Given the description of an element on the screen output the (x, y) to click on. 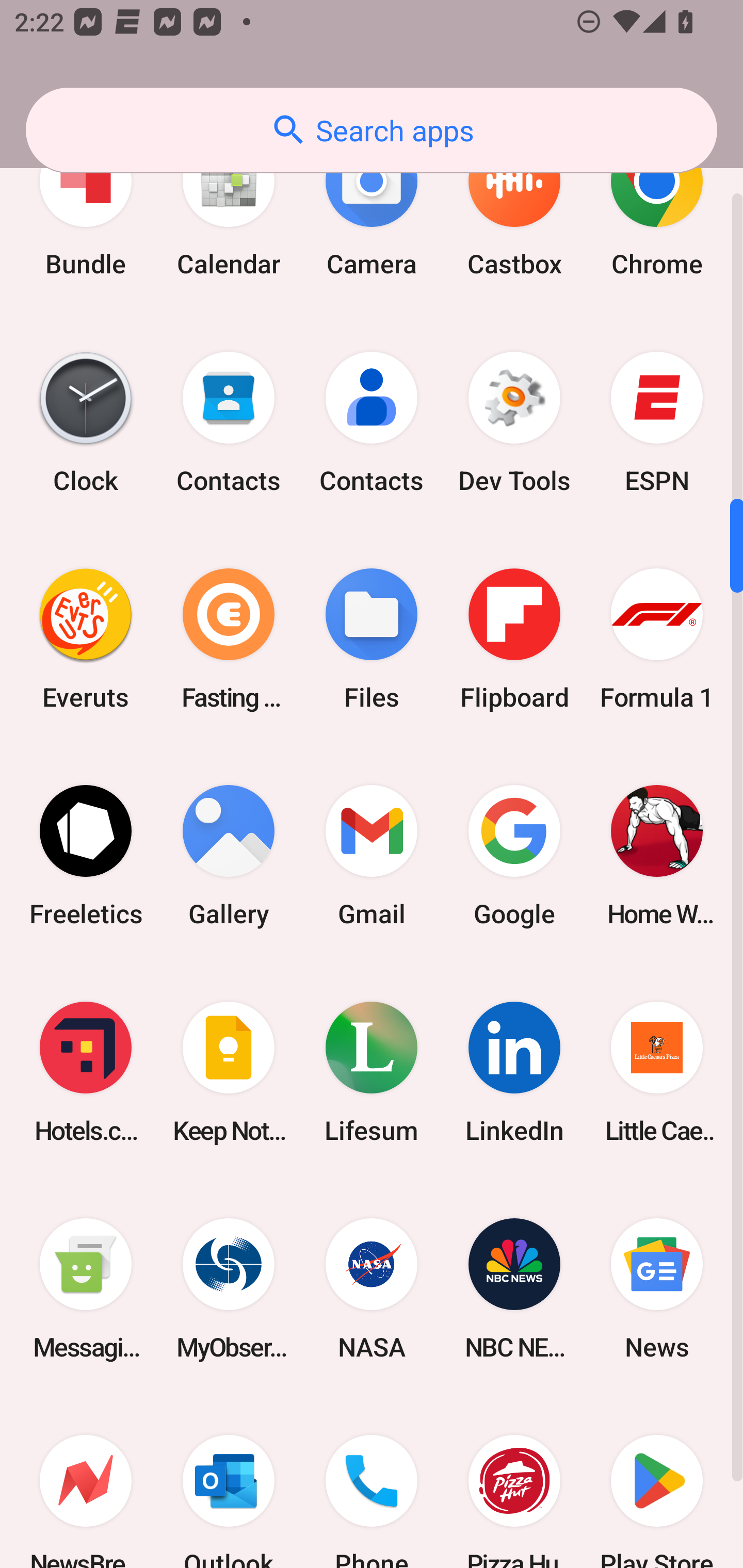
  Search apps (371, 130)
Bundle (85, 208)
Calendar (228, 208)
Camera (371, 208)
Castbox (514, 208)
Chrome (656, 208)
Clock (85, 421)
Contacts (228, 421)
Contacts (371, 421)
Dev Tools (514, 421)
ESPN (656, 421)
Everuts (85, 638)
Fasting Coach (228, 638)
Files (371, 638)
Flipboard (514, 638)
Formula 1 (656, 638)
Freeletics (85, 855)
Gallery (228, 855)
Gmail (371, 855)
Google (514, 855)
Home Workout (656, 855)
Hotels.com (85, 1072)
Keep Notes (228, 1072)
Lifesum (371, 1072)
LinkedIn (514, 1072)
Little Caesars Pizza (656, 1072)
Messaging (85, 1288)
MyObservatory (228, 1288)
NASA (371, 1288)
NBC NEWS (514, 1288)
News (656, 1288)
NewsBreak (85, 1482)
Outlook (228, 1482)
Phone (371, 1482)
Pizza Hut HK & Macau (514, 1482)
Play Store (656, 1482)
